Given the description of an element on the screen output the (x, y) to click on. 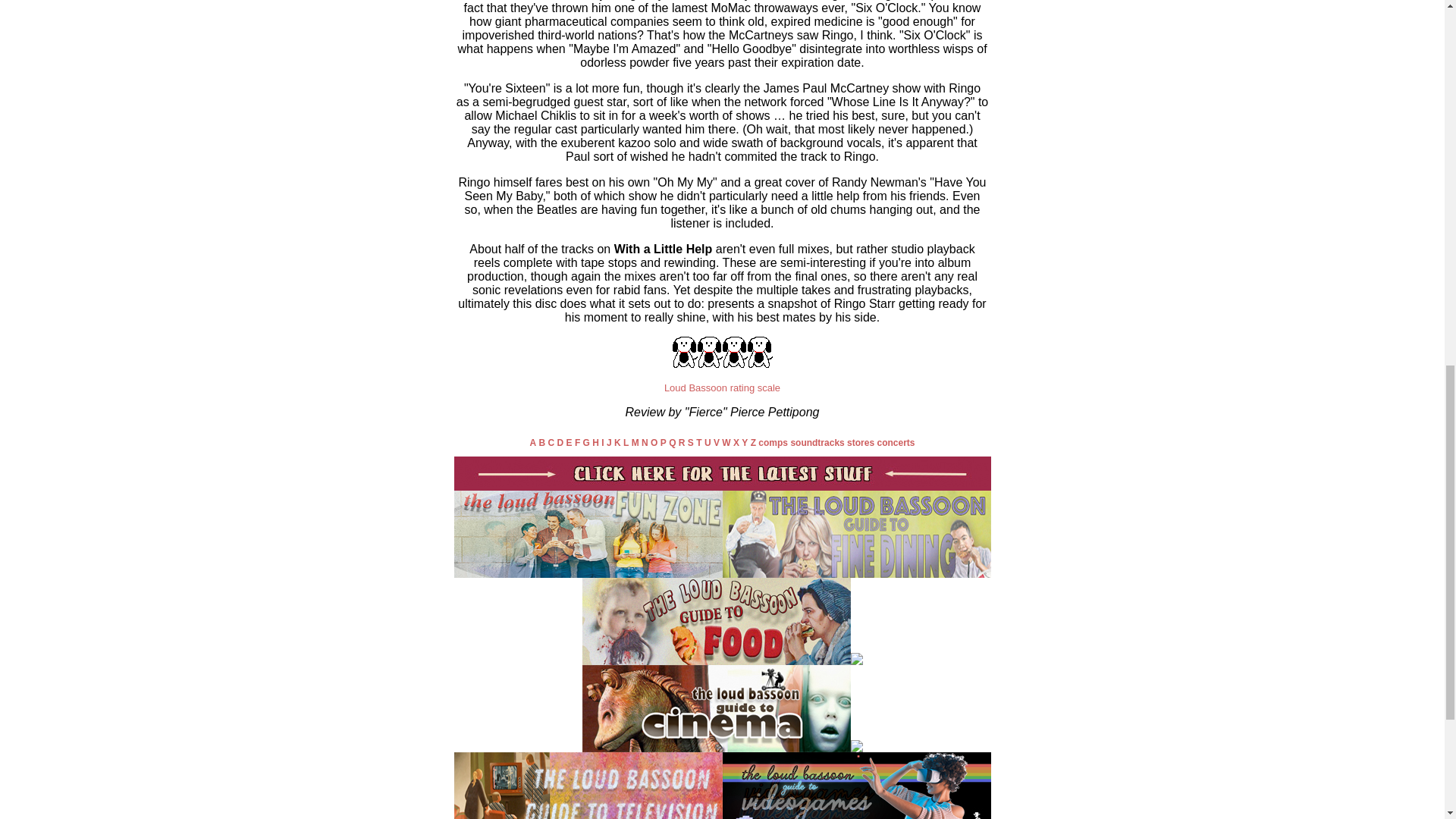
soundtracks (817, 442)
Loud Bassoon rating scale (721, 387)
comps (772, 442)
concerts (895, 442)
stores (861, 442)
